Given the description of an element on the screen output the (x, y) to click on. 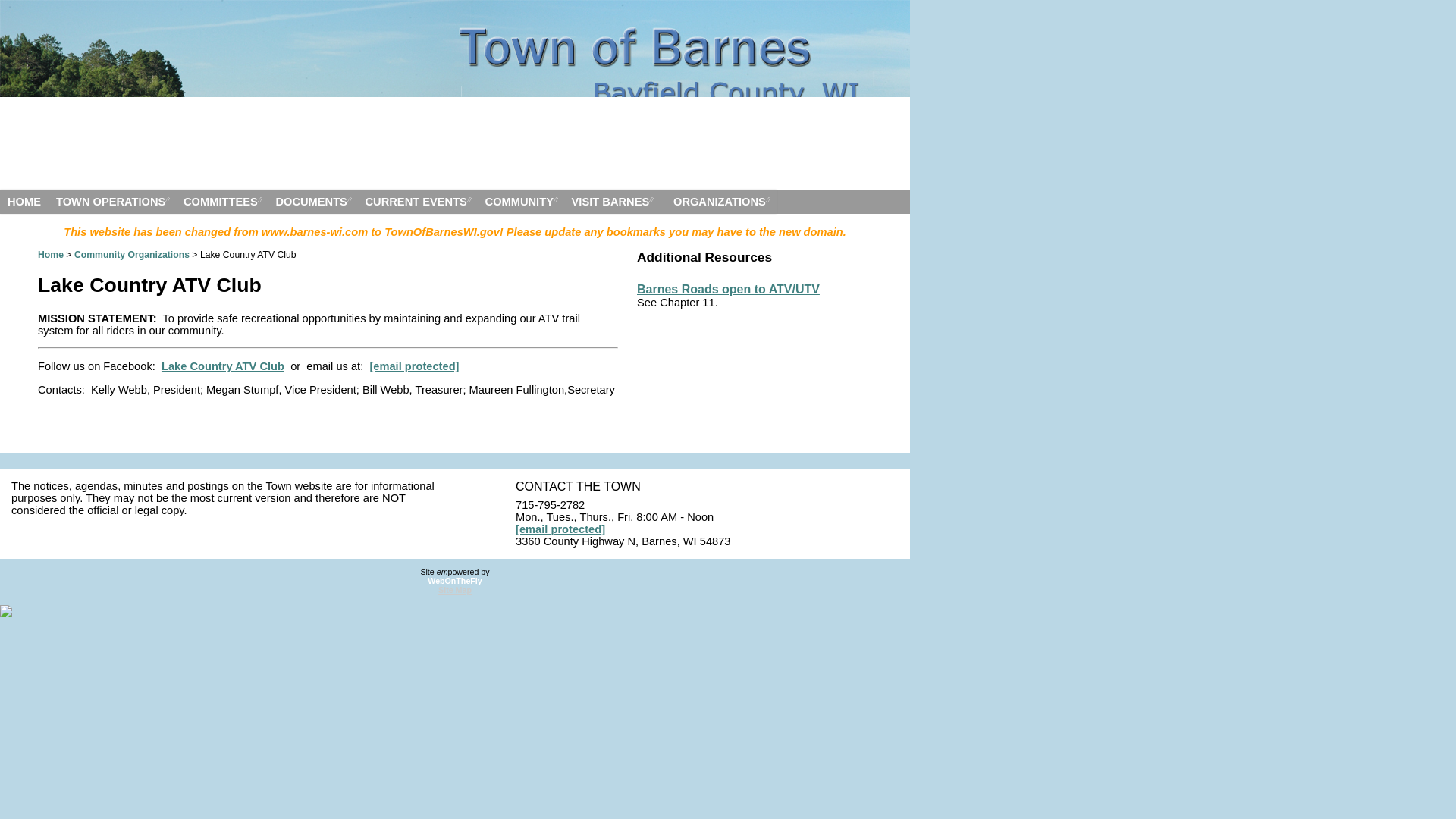
COMMITTEES (221, 201)
DOCUMENTS (311, 201)
TOWN OPERATIONS (112, 201)
COMMUNITY (520, 201)
HOME (24, 201)
CURRENT EVENTS (417, 201)
